Given the description of an element on the screen output the (x, y) to click on. 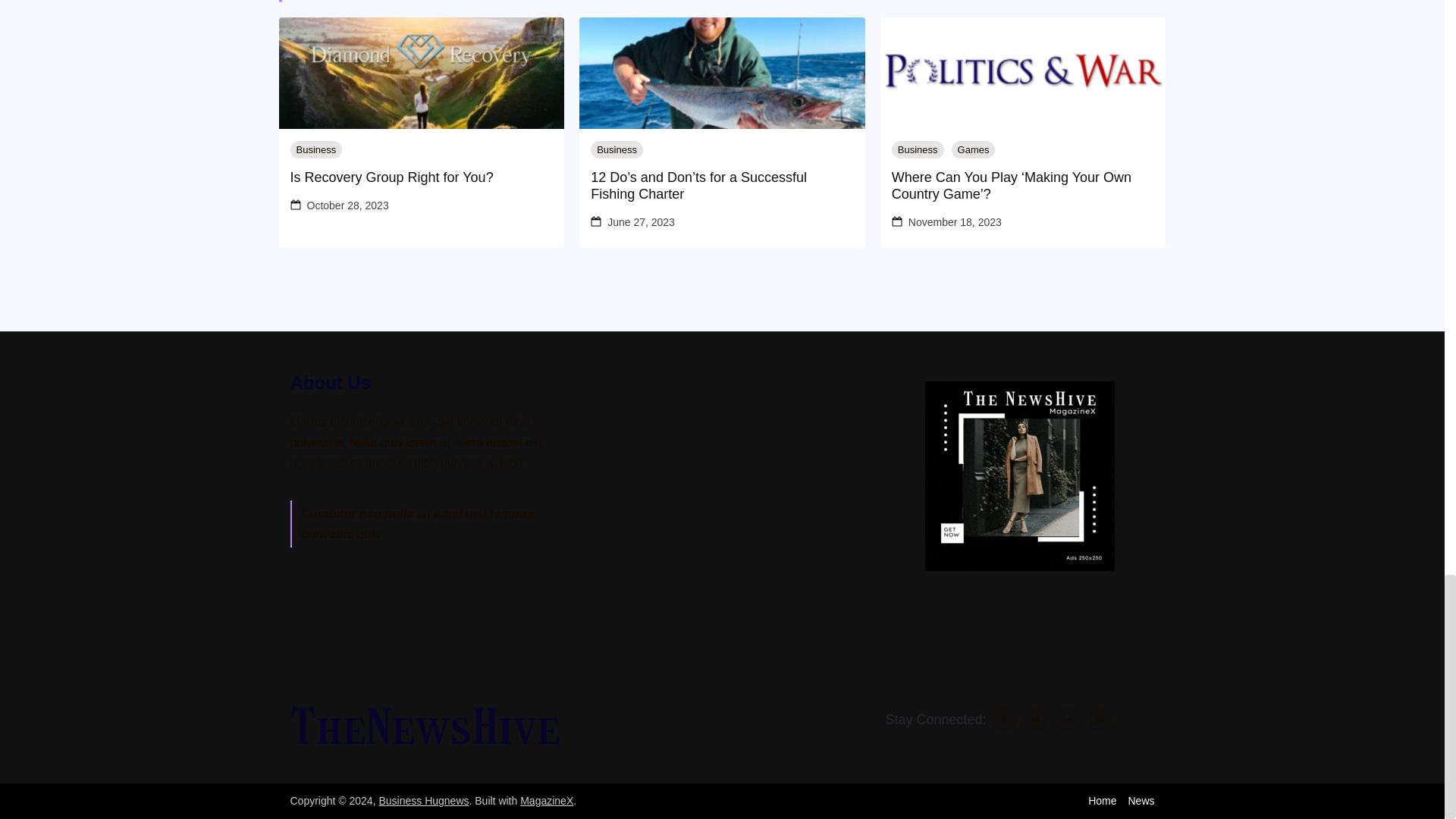
News (1140, 800)
Business (315, 149)
June 27, 2023 (641, 222)
November 18, 2023 (954, 222)
Business (917, 149)
Games (973, 149)
October 28, 2023 (346, 205)
Home (1101, 800)
Is Recovery Group Right for You? (421, 177)
Business Hugnews (423, 800)
